Given the description of an element on the screen output the (x, y) to click on. 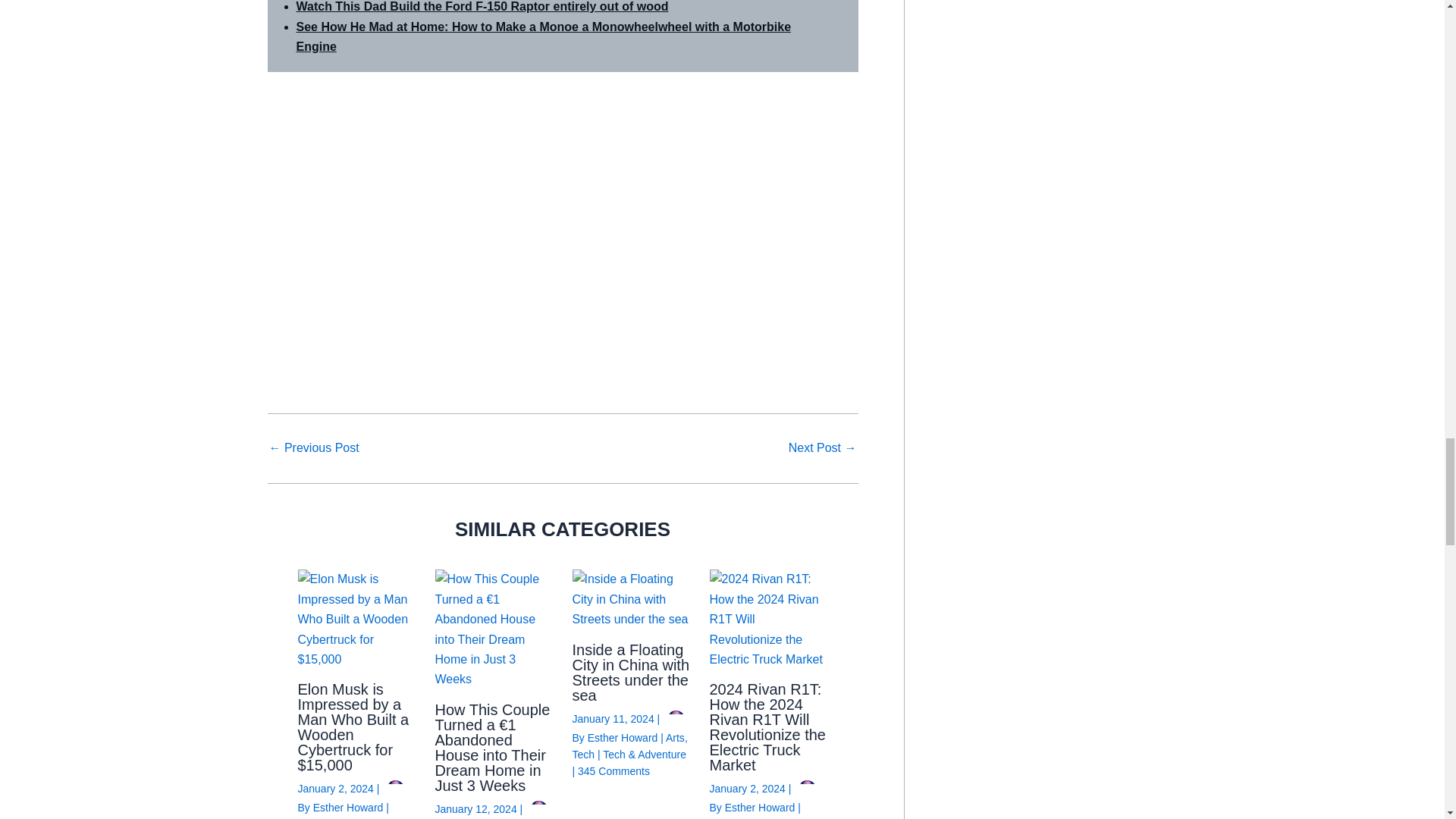
This Speedboat Made Out of Glue and Tape Shocked the World (312, 448)
View all posts by Esther Howard (349, 807)
Meet Kelvin, the Ghanaian who built a car from scrap metal (823, 448)
View all posts by Esther Howard (761, 807)
View all posts by Esther Howard (624, 737)
